Given the description of an element on the screen output the (x, y) to click on. 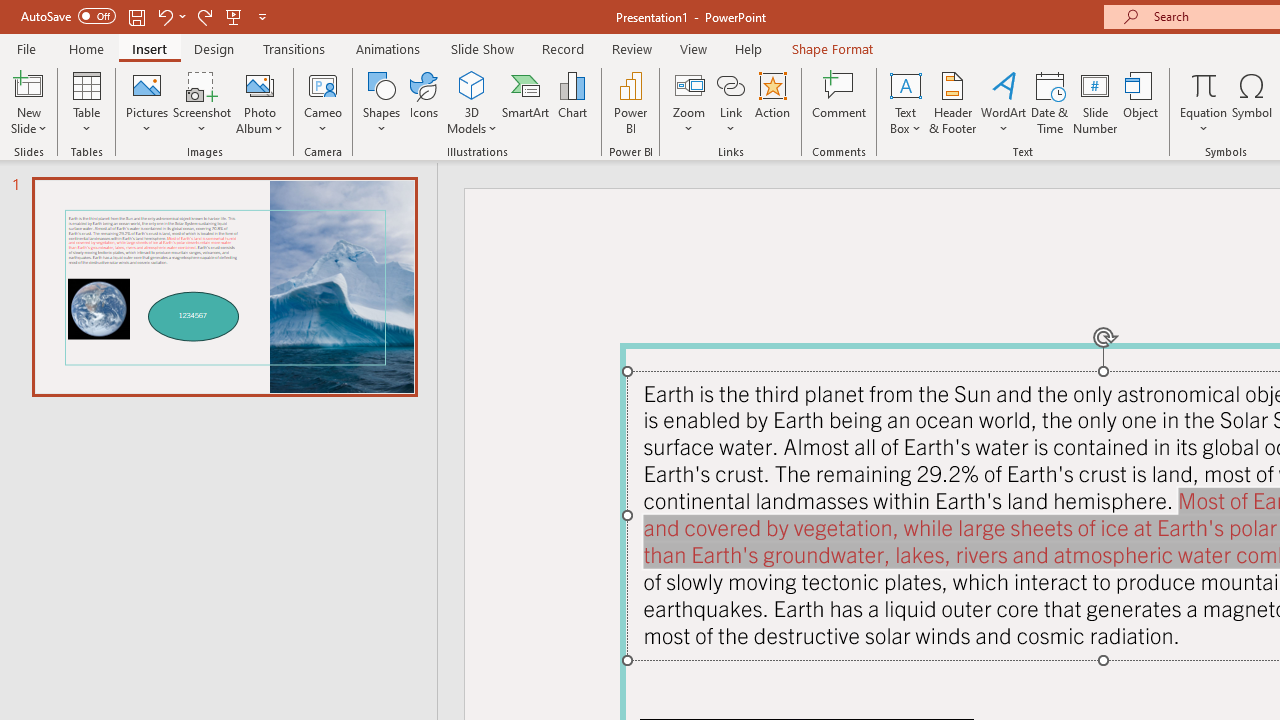
Symbol... (1252, 102)
Icons (424, 102)
Link (731, 102)
Slide Number (1095, 102)
Table (86, 102)
Equation (1203, 84)
Draw Horizontal Text Box (905, 84)
